Given the description of an element on the screen output the (x, y) to click on. 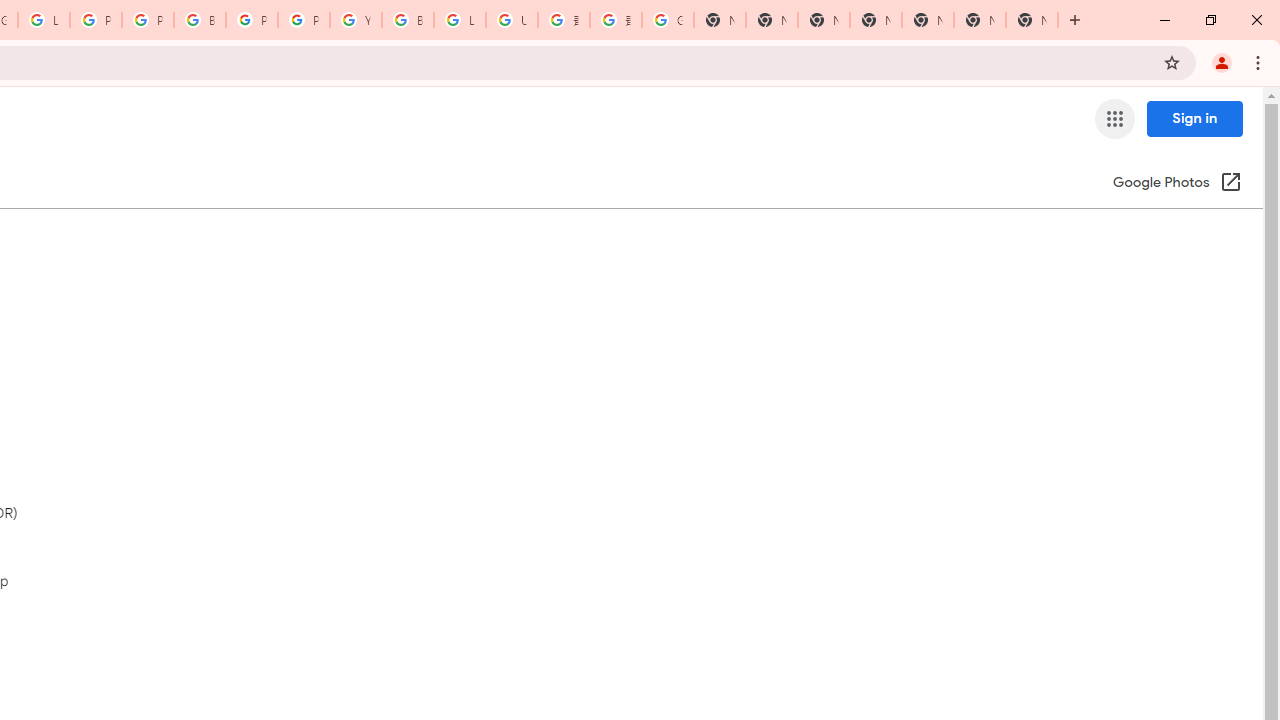
New Tab (1032, 20)
New Tab (875, 20)
Sign in (1194, 118)
Privacy Help Center - Policies Help (95, 20)
Google Photos (Open in a new window) (1177, 183)
